Given the description of an element on the screen output the (x, y) to click on. 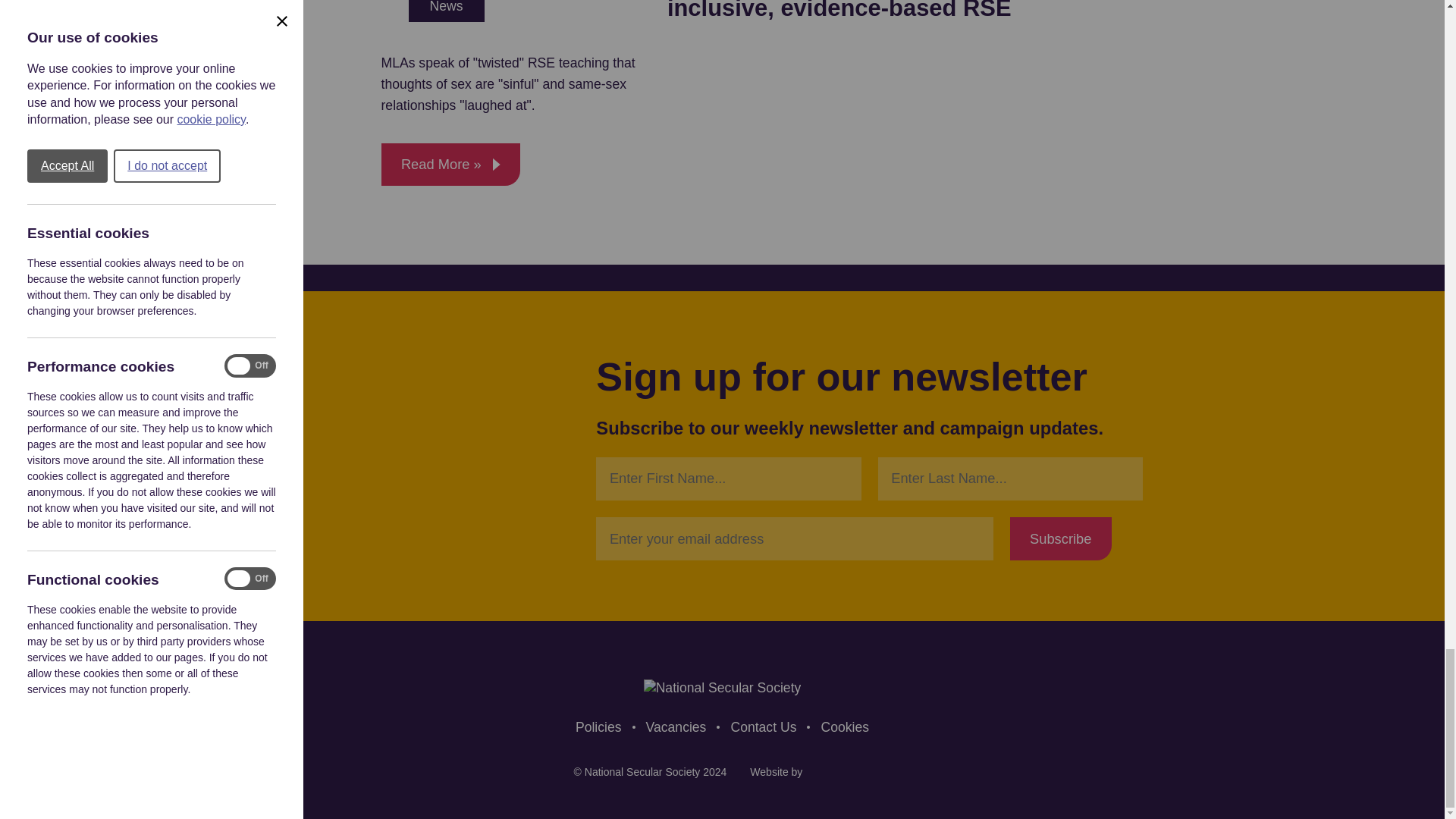
Logo (722, 687)
Subscribe (1061, 538)
